Given the description of an element on the screen output the (x, y) to click on. 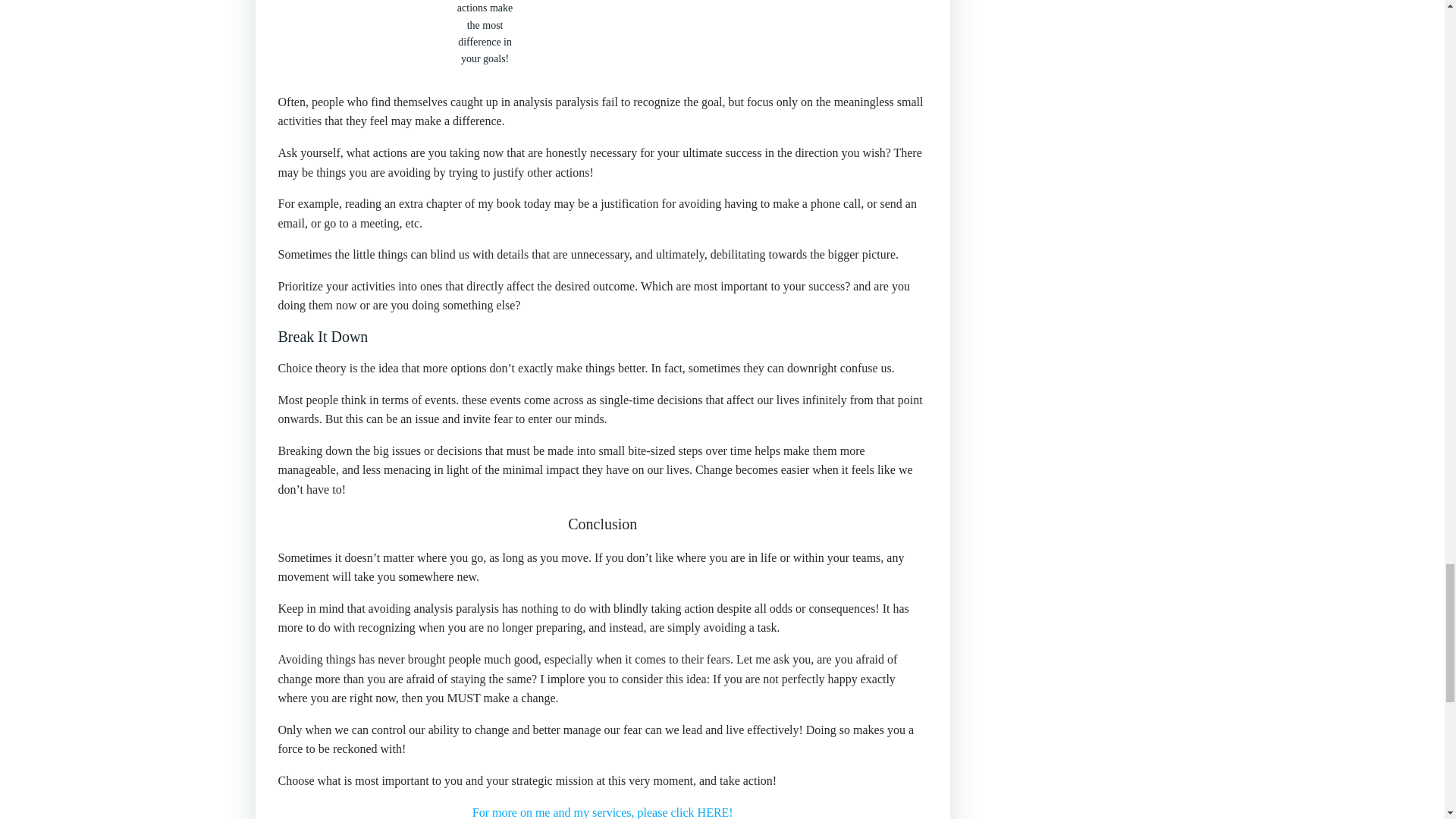
For more on me and my services, please click HERE! (602, 812)
